Given the description of an element on the screen output the (x, y) to click on. 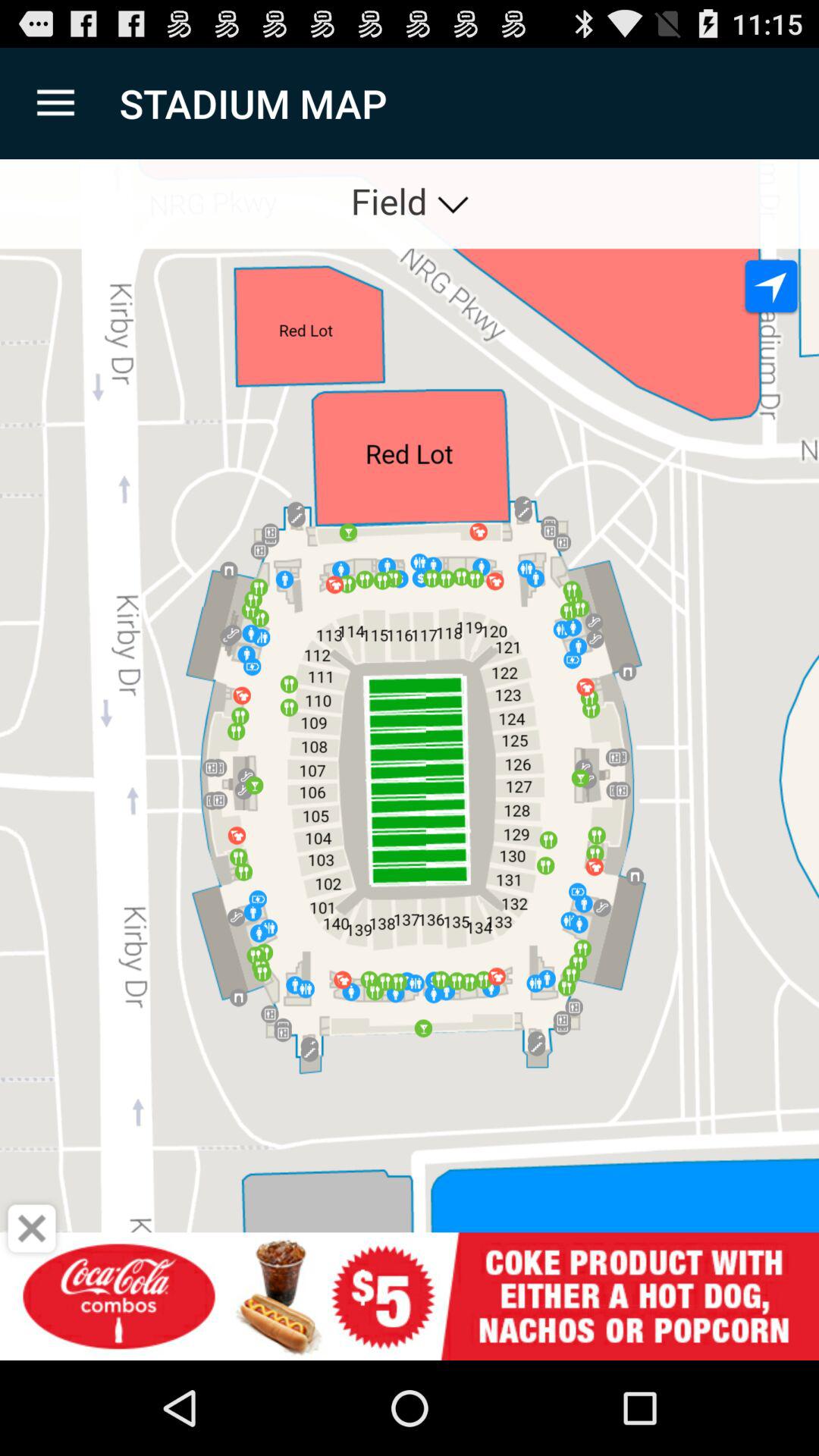
advertisement image (409, 1296)
